Given the description of an element on the screen output the (x, y) to click on. 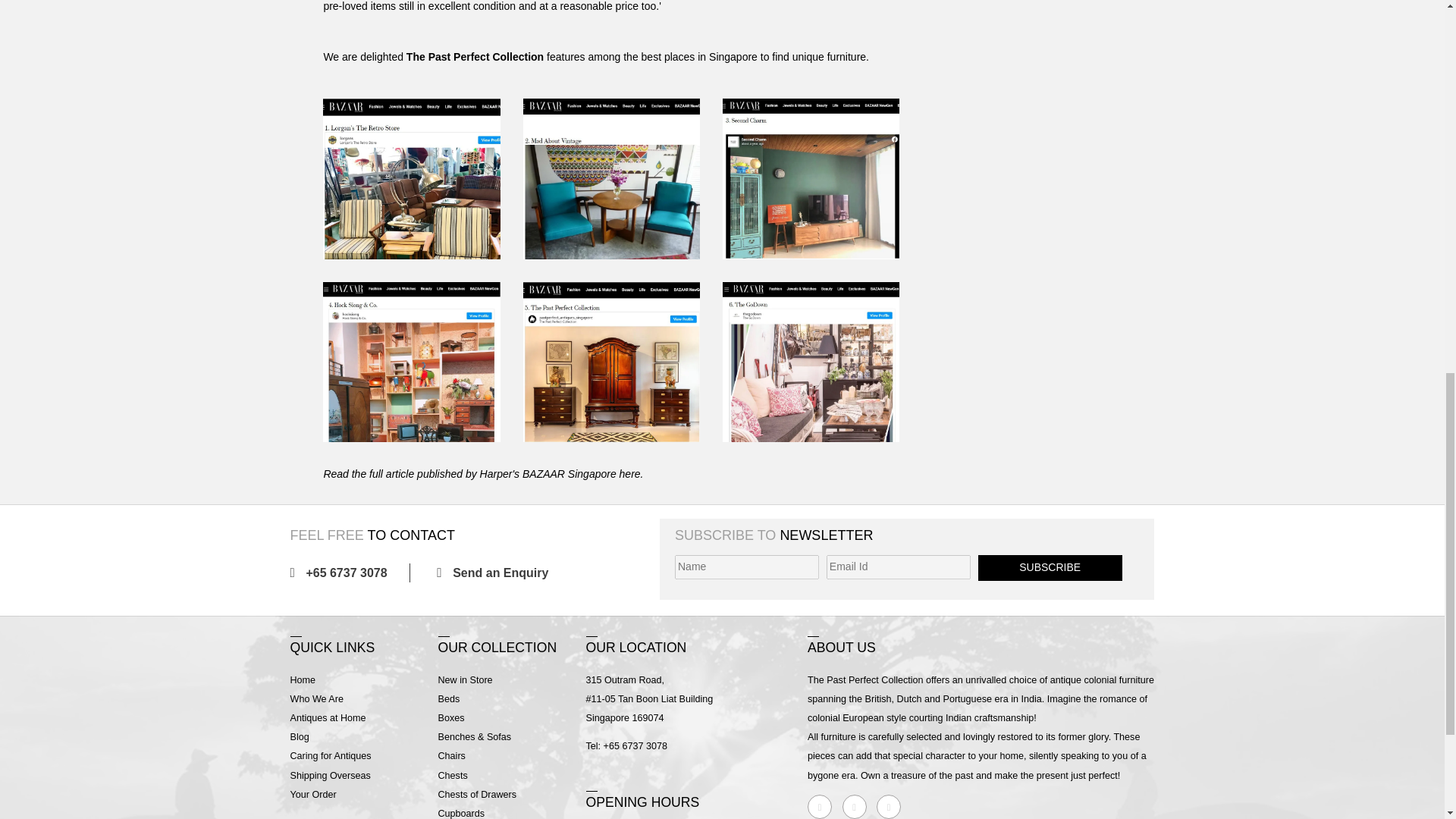
The Past Perfect Collection (474, 56)
SUBSCRIBE (1050, 567)
